Given the description of an element on the screen output the (x, y) to click on. 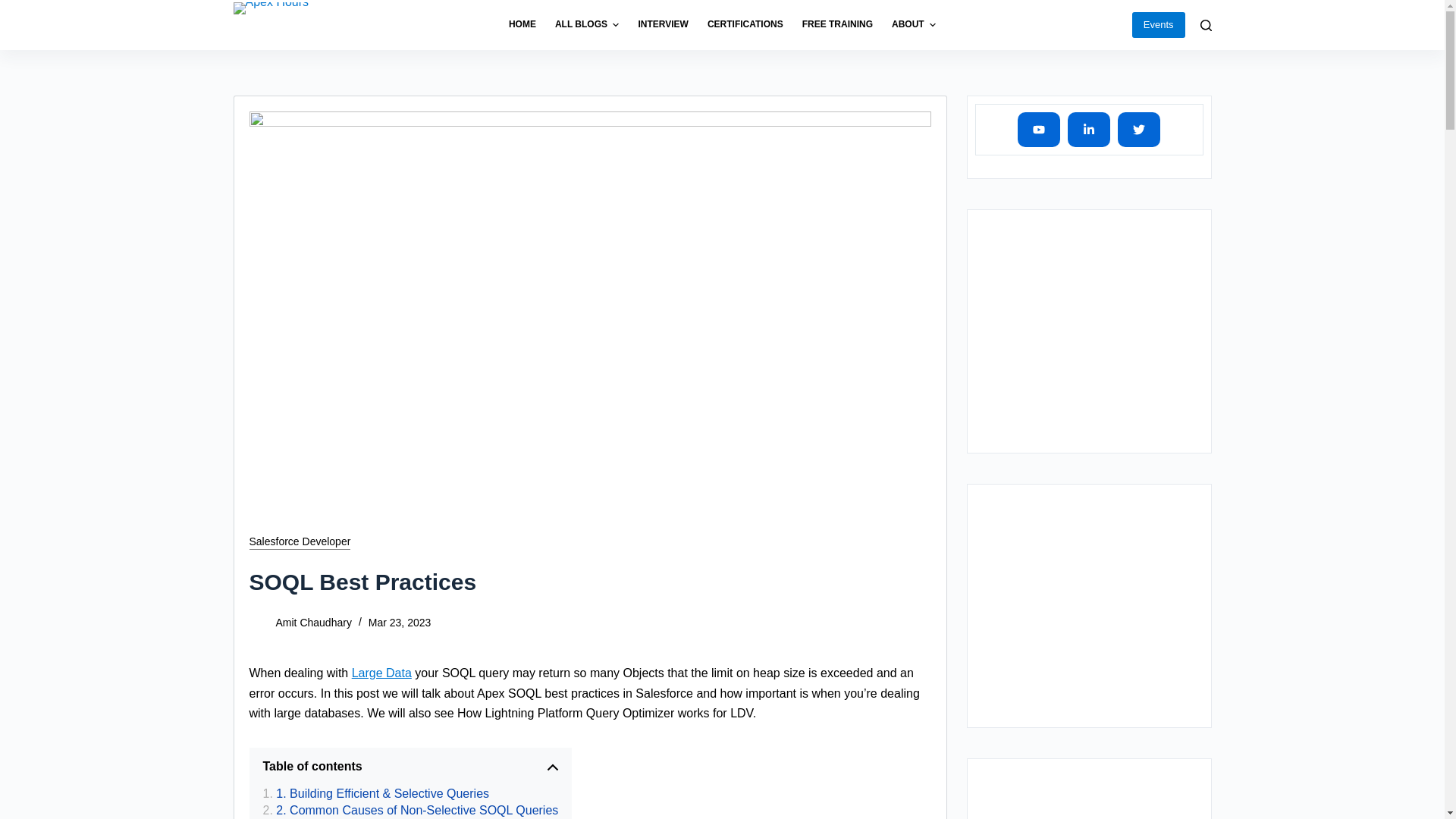
CERTIFICATIONS (744, 24)
ABOUT (909, 24)
2. Common Causes of Non-Selective SOQL Queries (409, 810)
HOME (527, 24)
FREE TRAINING (837, 24)
ALL BLOGS (586, 24)
INTERVIEW (662, 24)
Skip to content (15, 7)
Events (1158, 24)
Posts by Amit Chaudhary (314, 622)
SOQL Best Practices (589, 581)
